Given the description of an element on the screen output the (x, y) to click on. 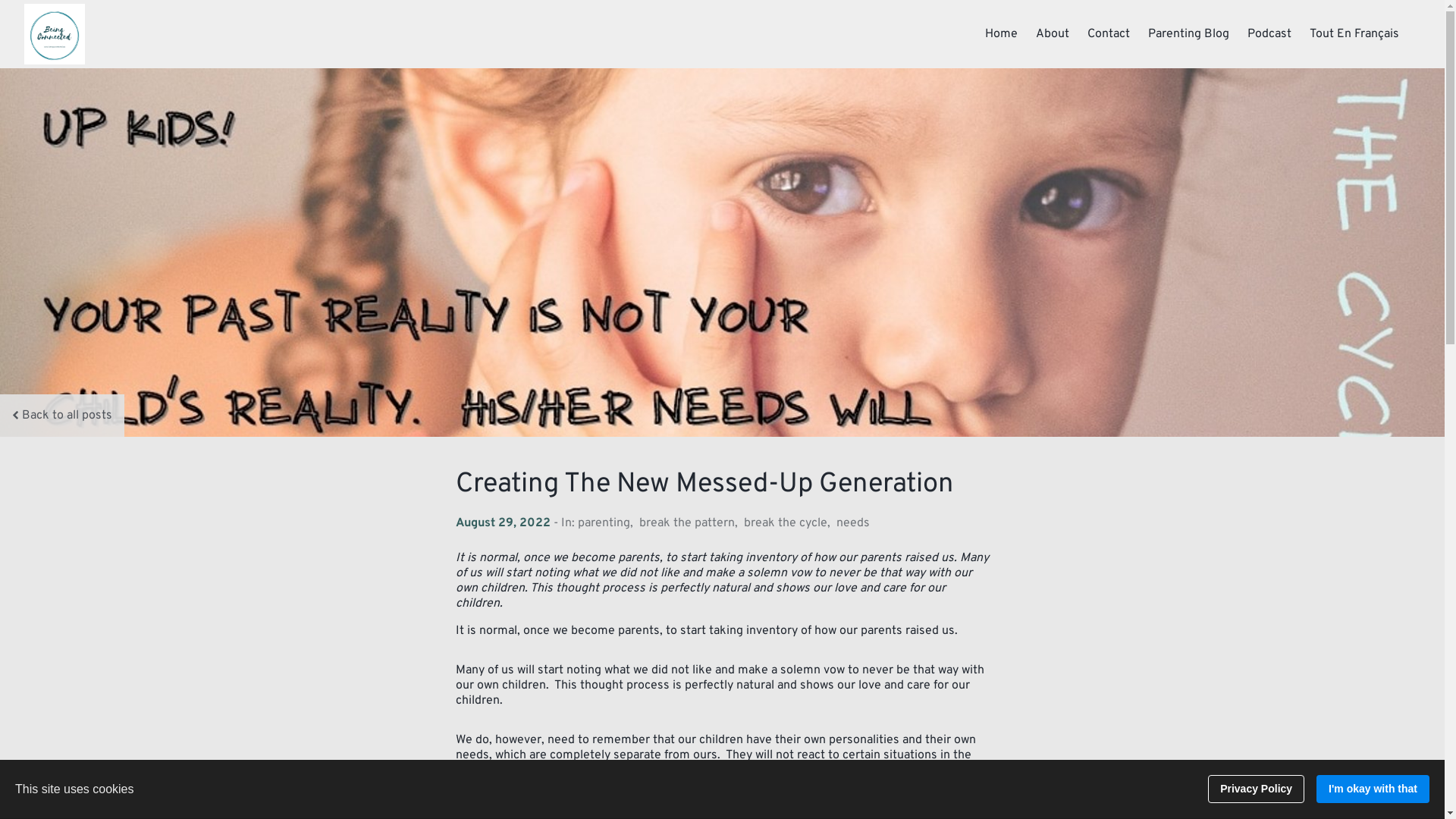
Contact Element type: text (1108, 33)
Home Element type: text (1000, 33)
Back to all posts Element type: text (72, 415)
About Element type: text (1052, 33)
Parenting Blog Element type: text (1188, 33)
Podcast Element type: text (1269, 33)
